Given the description of an element on the screen output the (x, y) to click on. 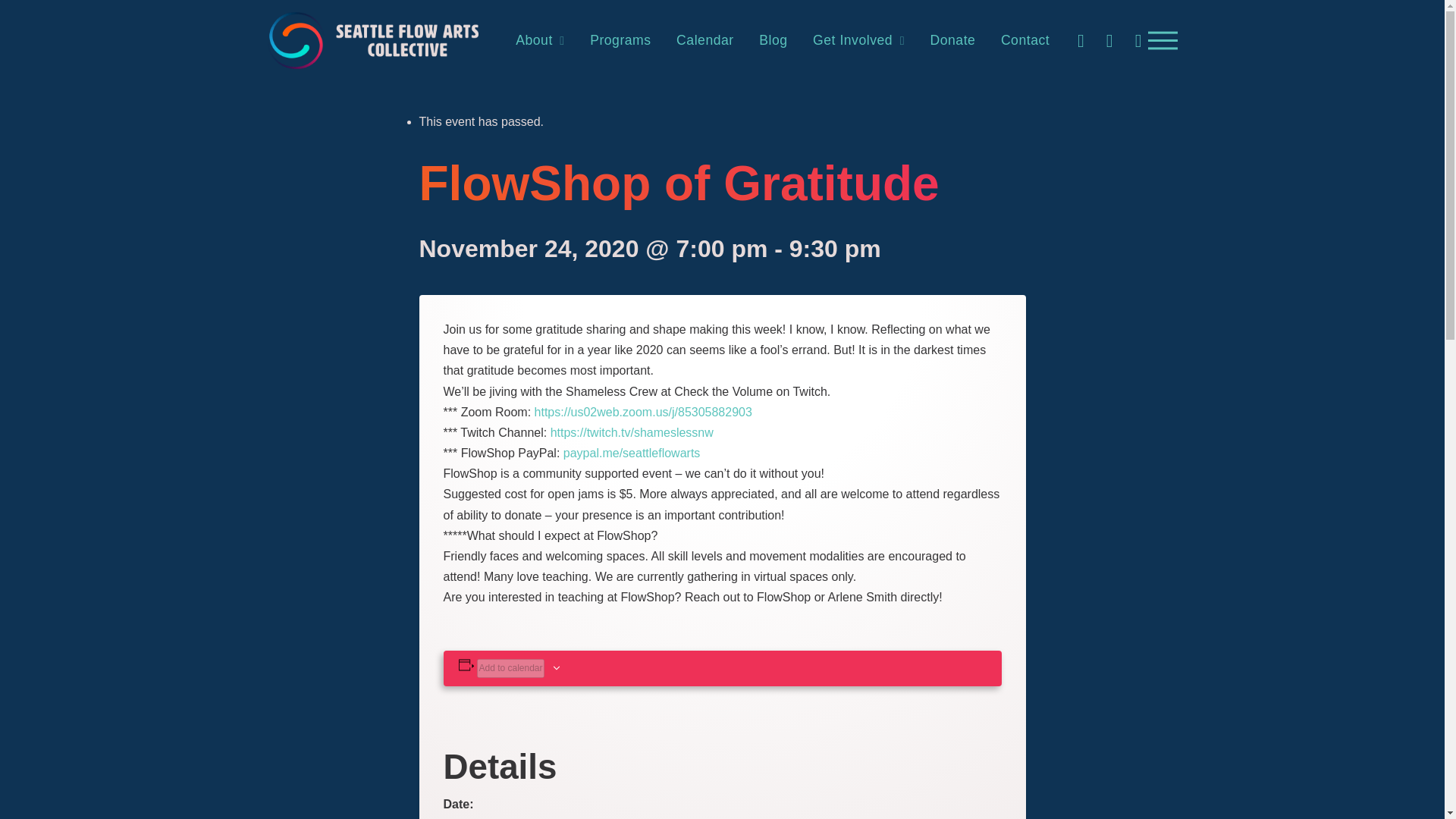
Calendar (704, 40)
About (539, 40)
Contact (1025, 40)
Get Involved (858, 40)
Programs (619, 40)
Add to calendar (510, 668)
Donate (952, 40)
Blog (772, 40)
